Given the description of an element on the screen output the (x, y) to click on. 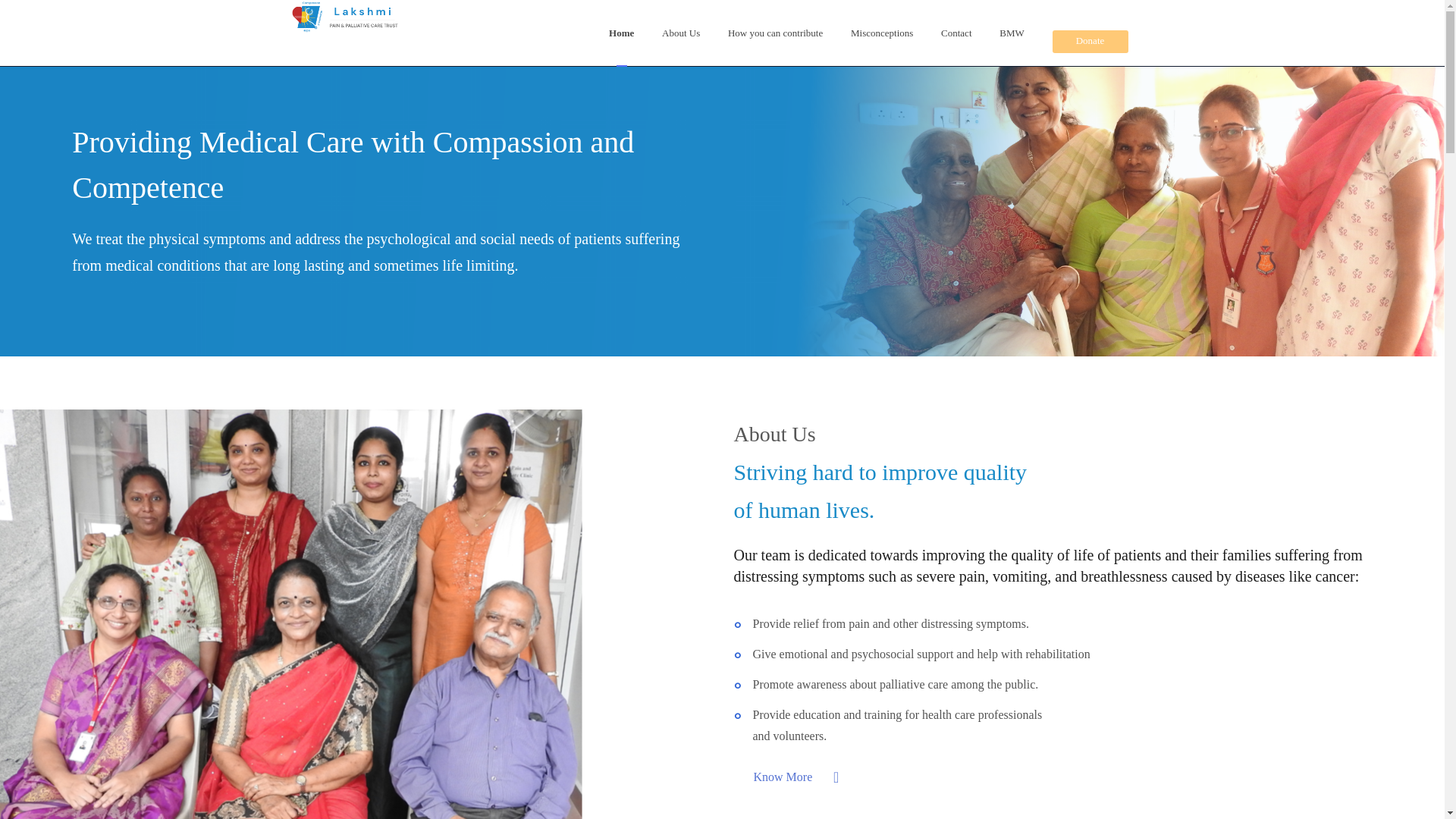
Donate (1090, 51)
Know More (800, 776)
How you can contribute (775, 33)
About Us (796, 776)
Misconceptions (881, 33)
